Given the description of an element on the screen output the (x, y) to click on. 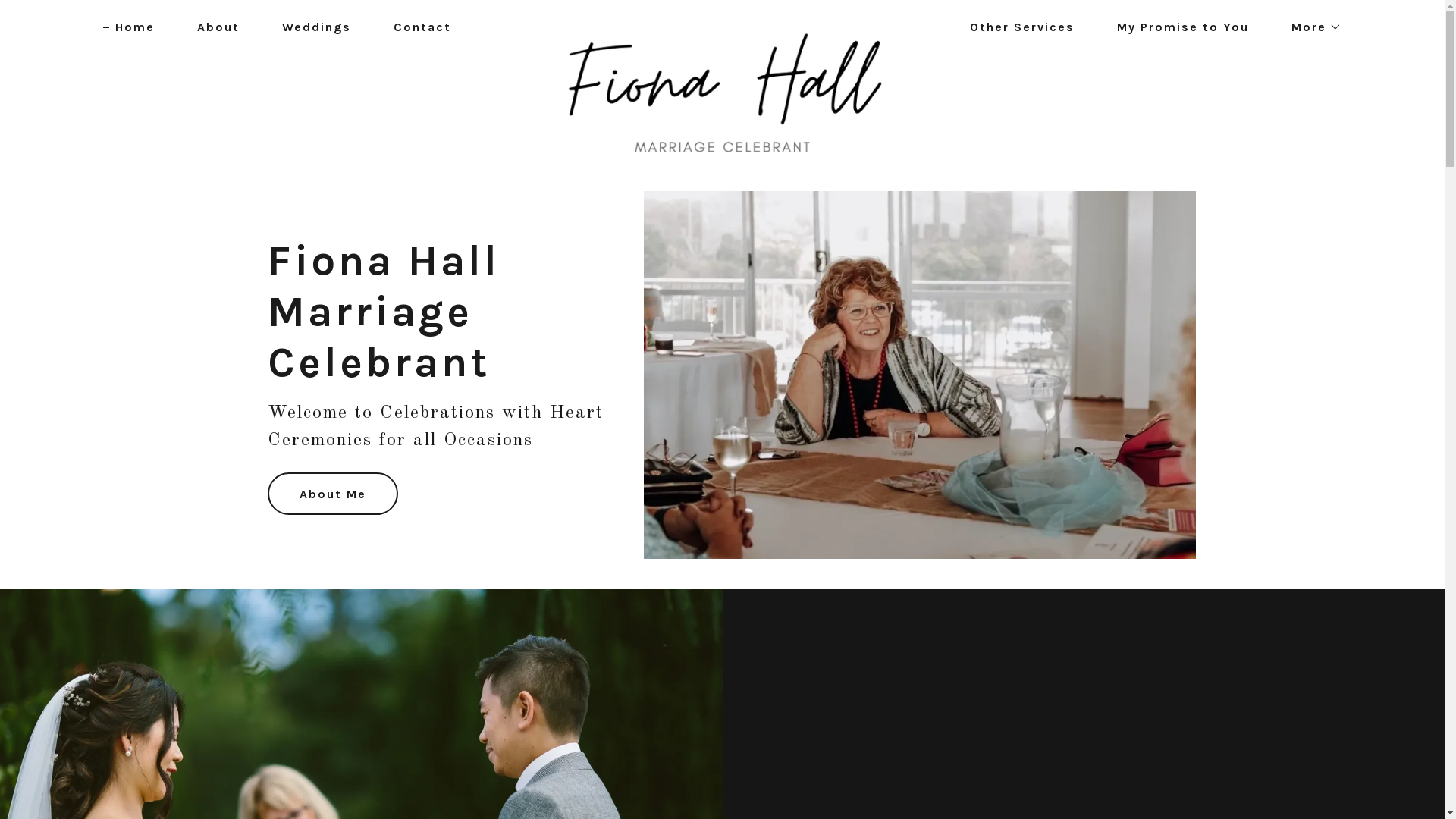
Fiona Hall Celebrant Element type: hover (721, 24)
Weddings Element type: text (310, 26)
About Me Element type: text (331, 493)
Other Services Element type: text (1016, 26)
Contact Element type: text (415, 26)
More Element type: text (1310, 27)
Home Element type: text (128, 27)
About Element type: text (212, 26)
My Promise to You Element type: text (1176, 26)
